Given the description of an element on the screen output the (x, y) to click on. 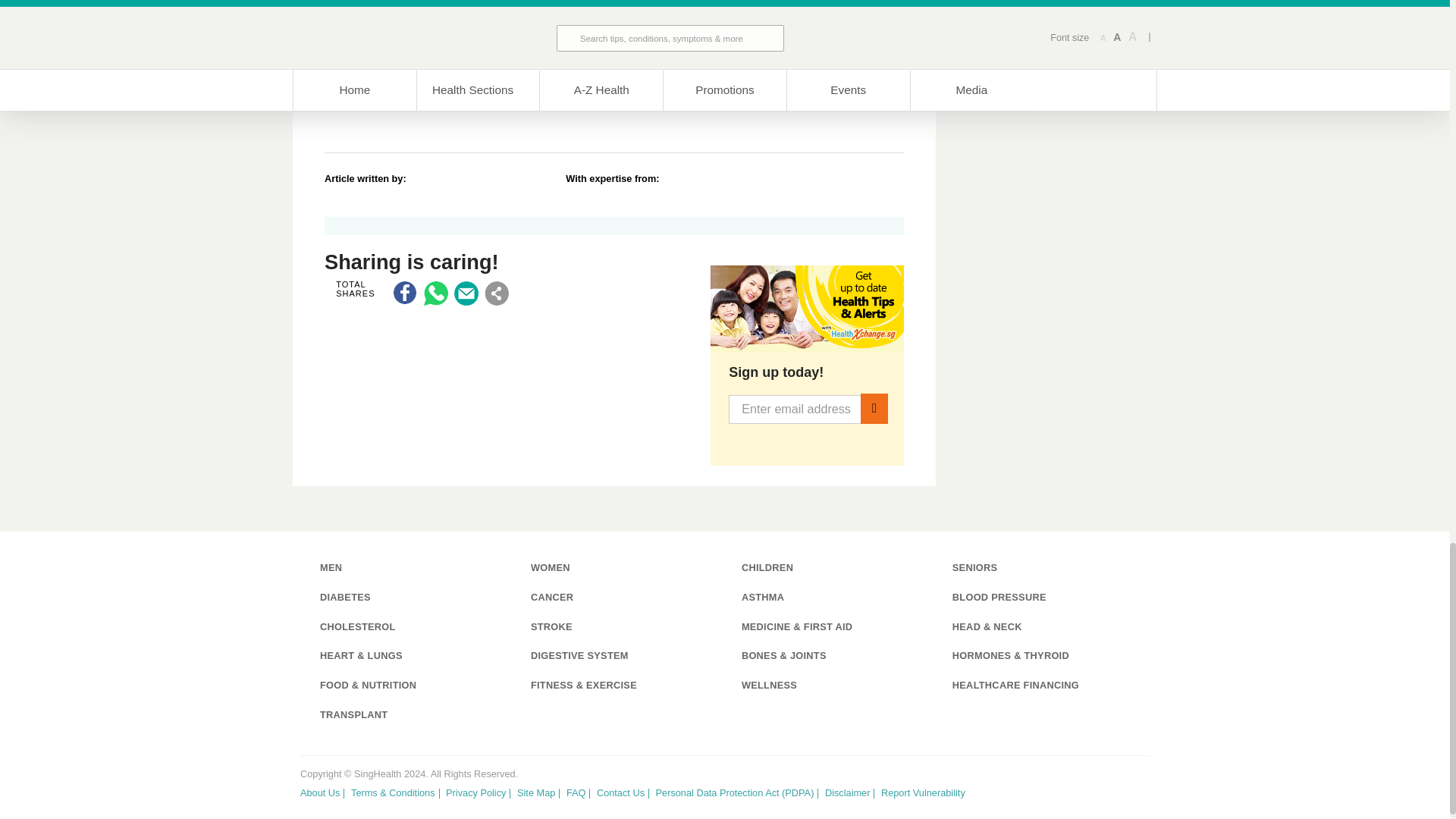
Follow us on Pinterest! (1112, 788)
Follow us on Twitter! (1060, 788)
WhatsApp (435, 293)
Facebook (405, 293)
Share this Page (496, 293)
Follow us on Facebook! (1087, 788)
Follow us on Instagram! (1139, 788)
Email Us (466, 293)
